Given the description of an element on the screen output the (x, y) to click on. 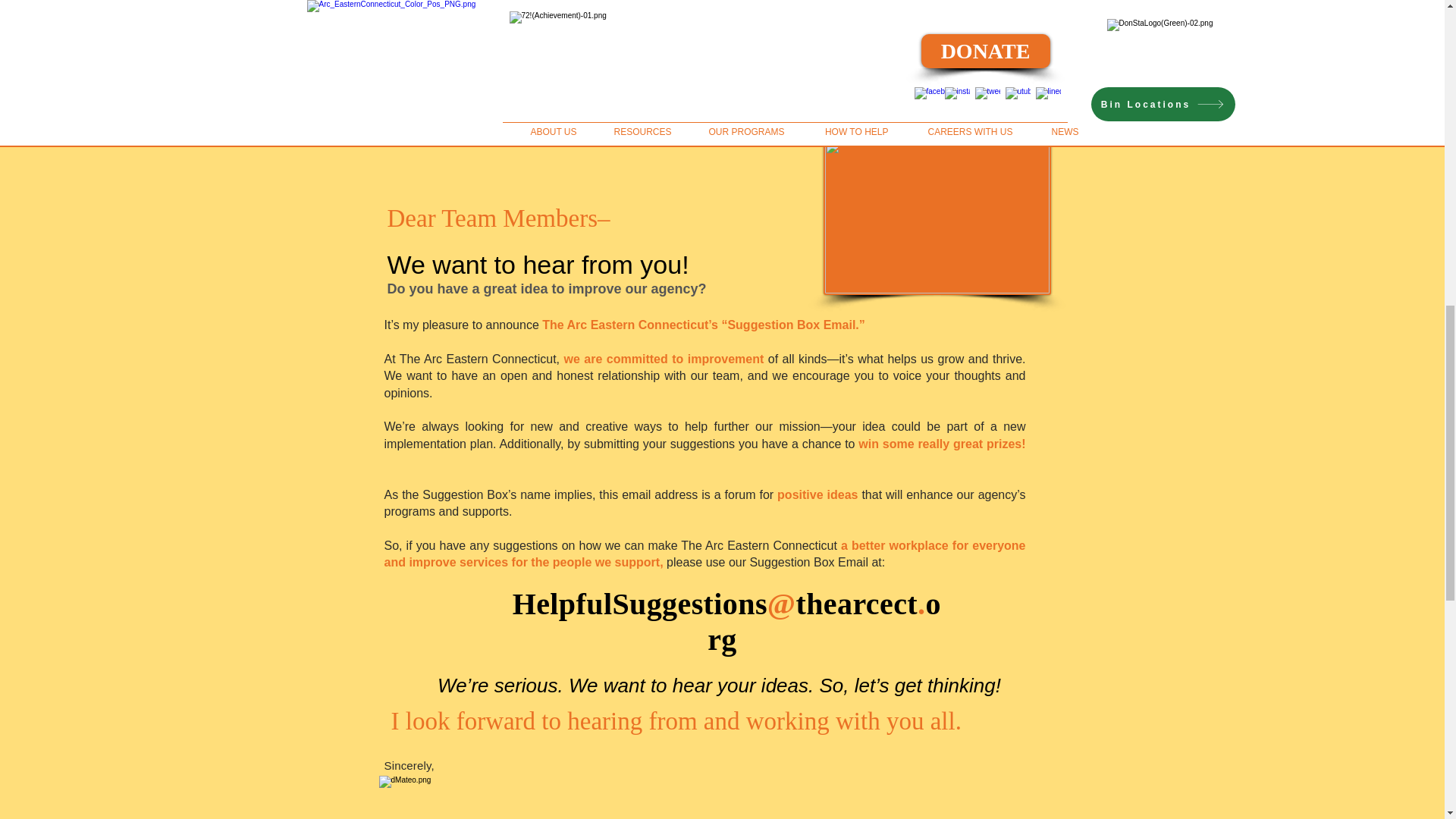
Helpful Suggestions Logo.png (937, 216)
